Given the description of an element on the screen output the (x, y) to click on. 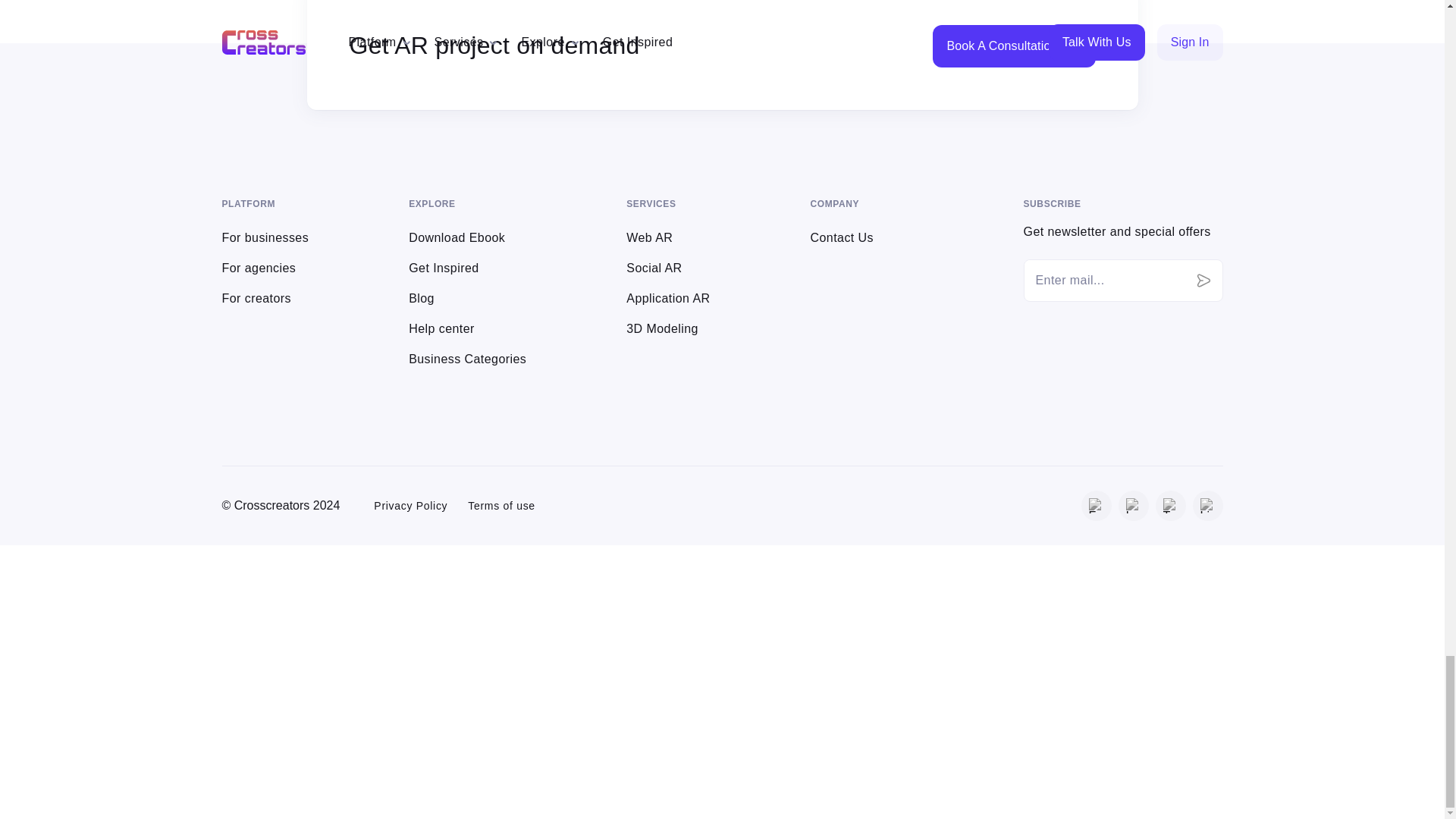
For businesses (264, 237)
For agencies (258, 267)
For creators (256, 297)
Download Ebook (457, 237)
Book A Consultation (1013, 46)
Get Inspired (444, 267)
